Given the description of an element on the screen output the (x, y) to click on. 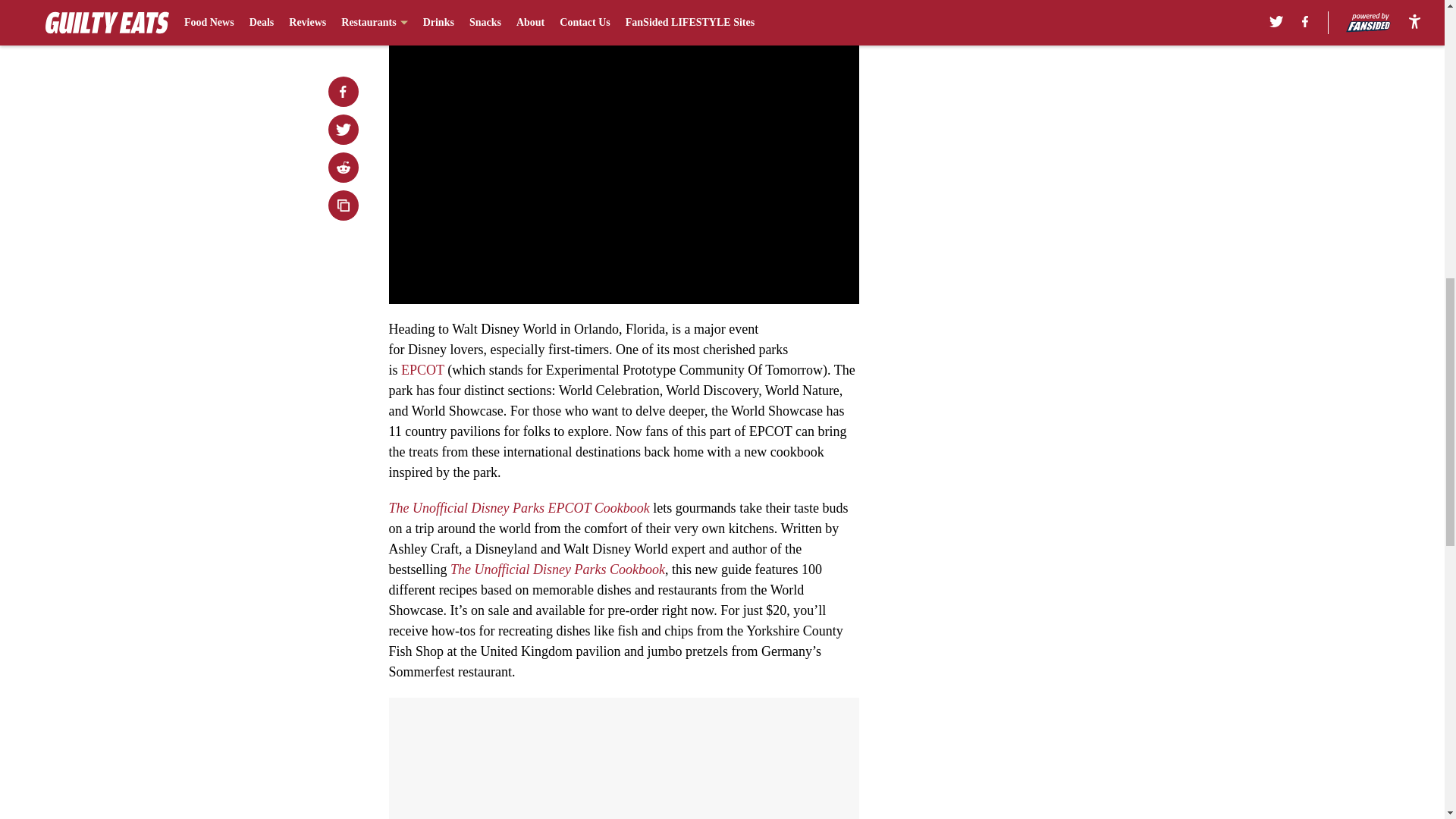
EPCOT (422, 369)
The Unofficial Disney Parks Cookbook (557, 569)
The Unofficial Disney Parks EPCOT Cookbook (518, 507)
